Given the description of an element on the screen output the (x, y) to click on. 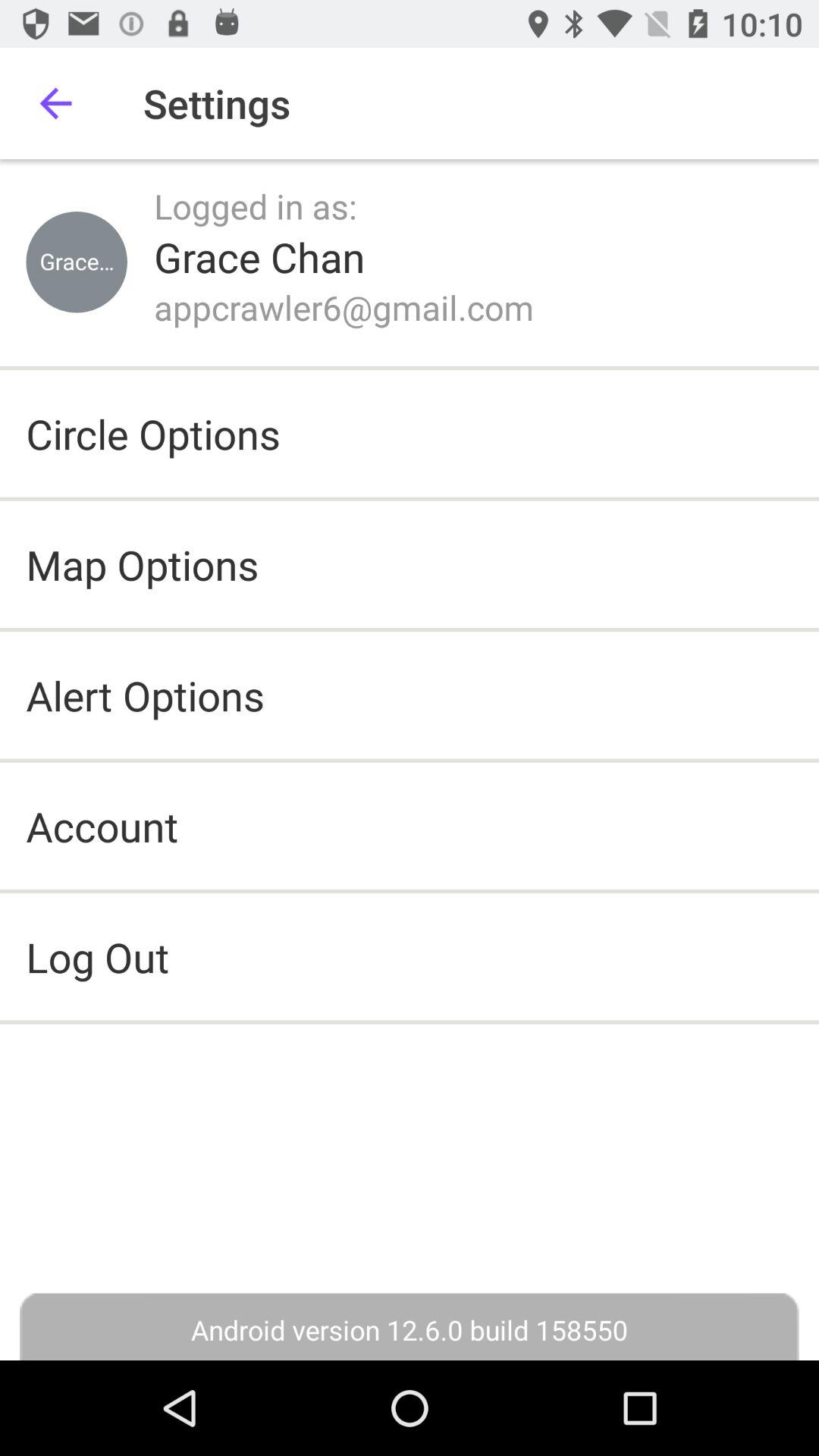
turn on log out (409, 956)
